Given the description of an element on the screen output the (x, y) to click on. 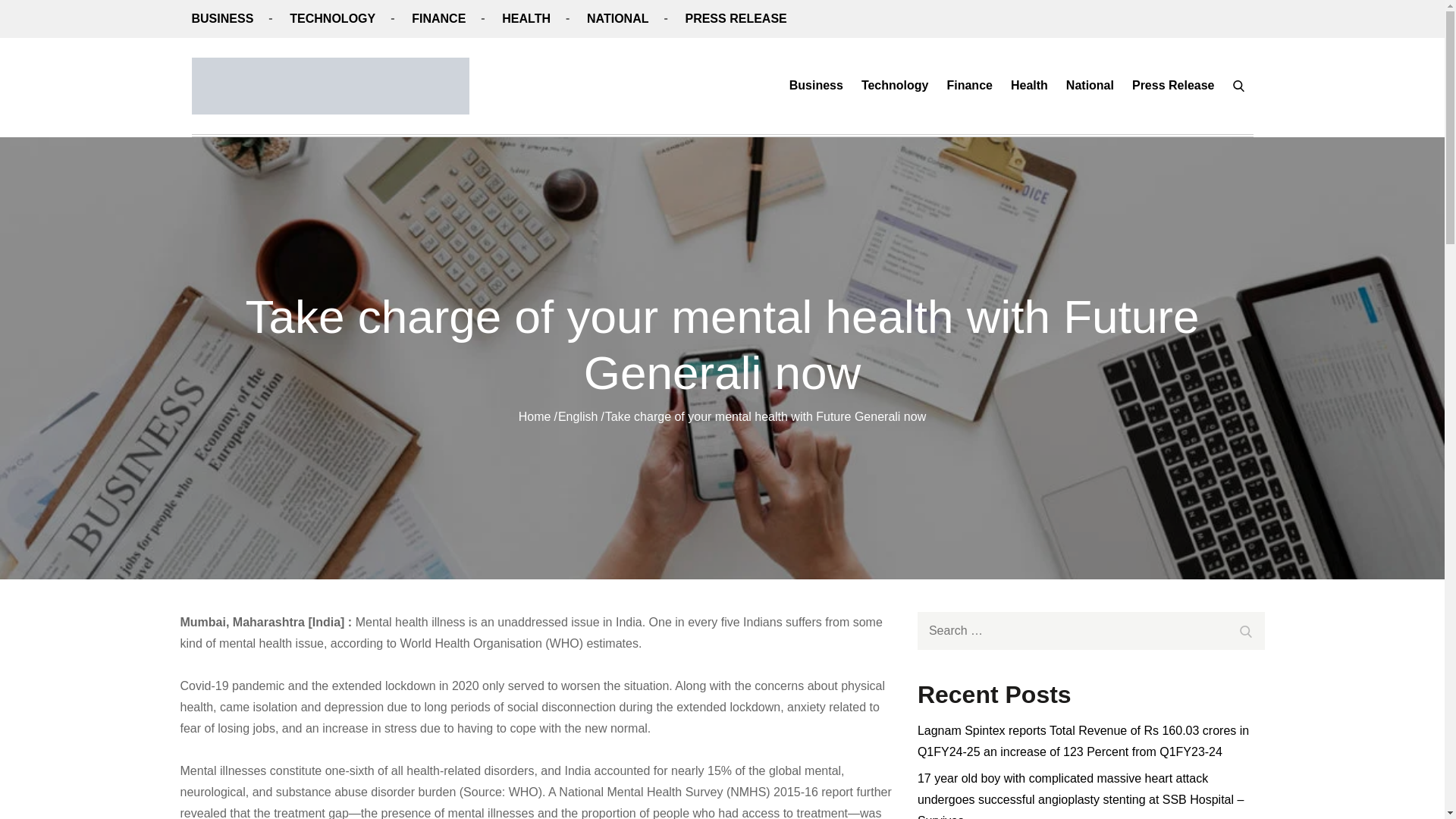
Finance (968, 85)
TECHNOLOGY (332, 18)
PRESS RELEASE (735, 18)
English (576, 416)
In Business Times (590, 100)
Search (1246, 630)
National (1089, 85)
Health (1029, 85)
Home (534, 416)
Business (816, 85)
BUSINESS (221, 18)
NATIONAL (616, 18)
FINANCE (438, 18)
Press Release (1173, 85)
